Given the description of an element on the screen output the (x, y) to click on. 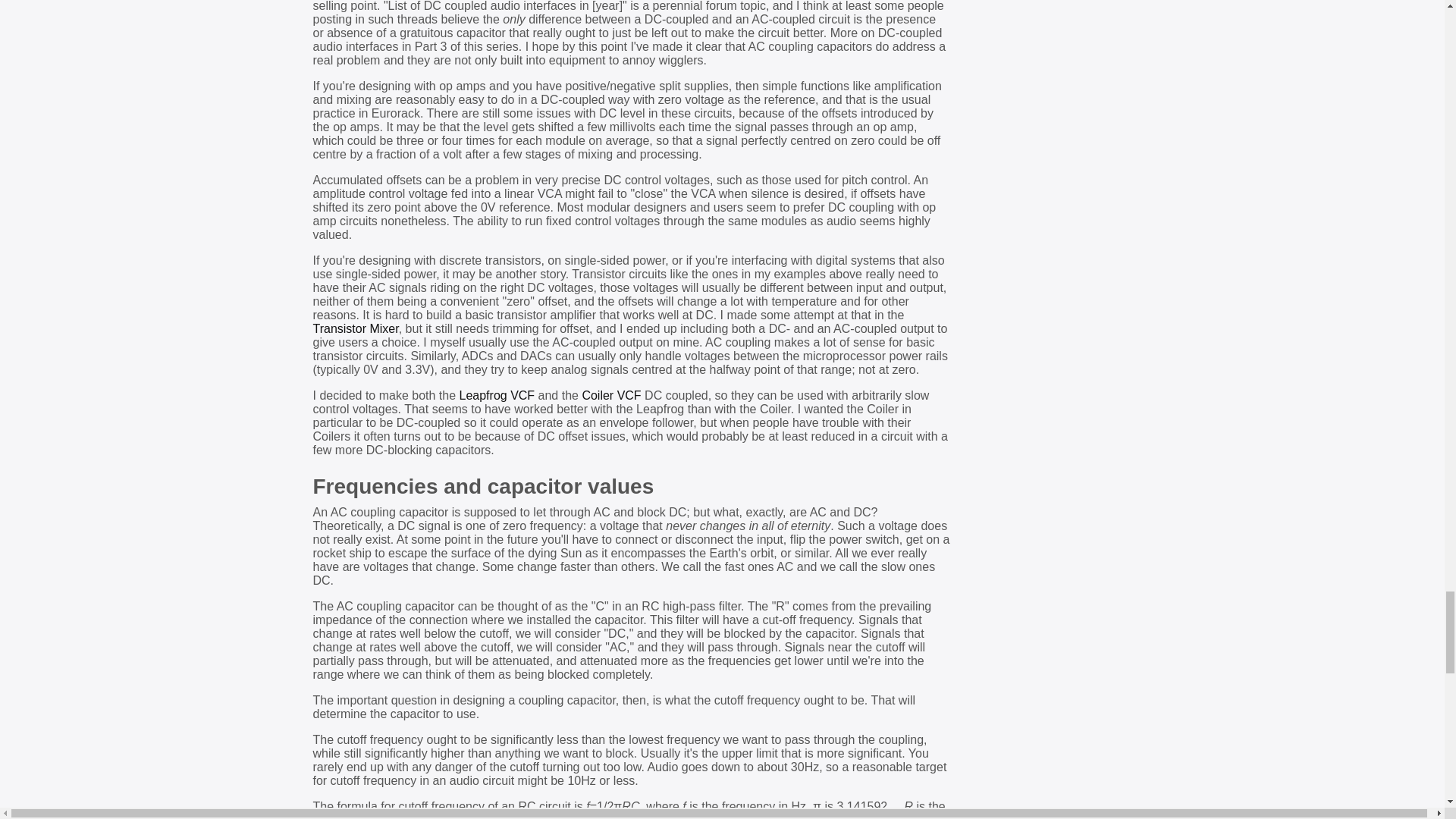
Leapfrog VCF (497, 395)
Transistor Mixer (355, 328)
Coiler VCF (610, 395)
